Given the description of an element on the screen output the (x, y) to click on. 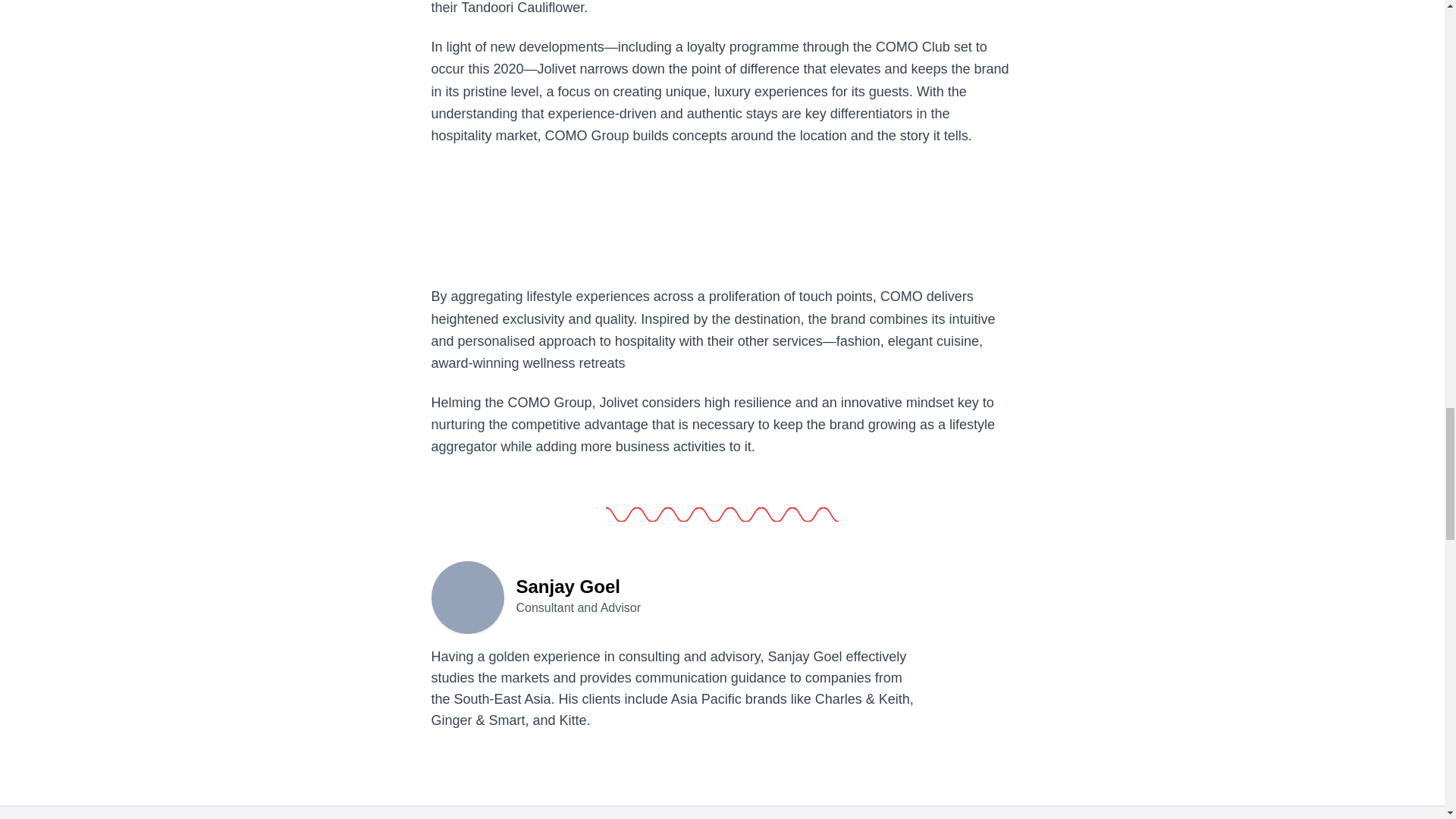
Sanjay Goel (466, 595)
